Given the description of an element on the screen output the (x, y) to click on. 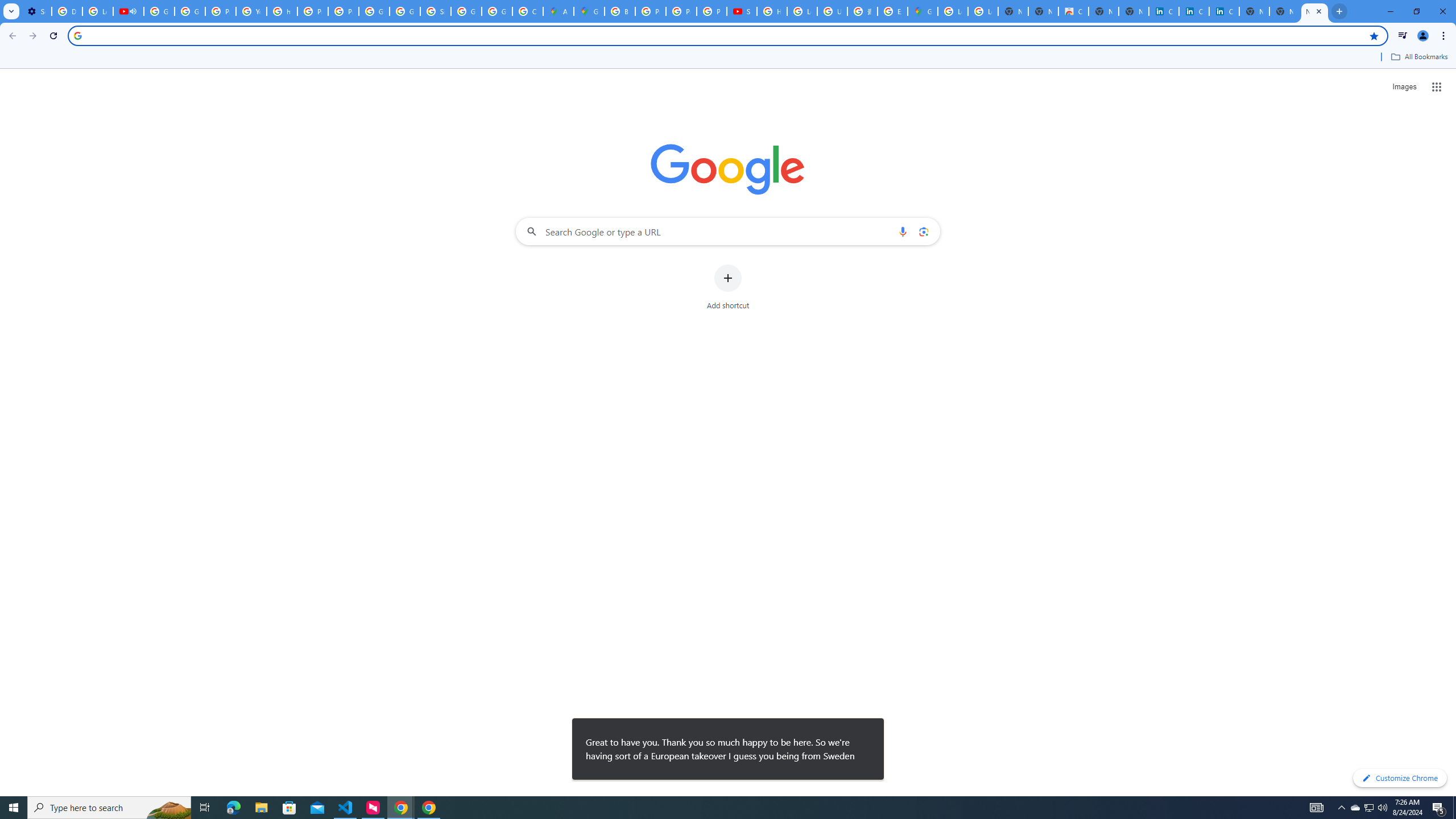
Sign in - Google Accounts (434, 11)
New Tab (1283, 11)
Create your Google Account (527, 11)
Chrome Web Store (1072, 11)
YouTube (251, 11)
Settings - Customize profile (36, 11)
